Given the description of an element on the screen output the (x, y) to click on. 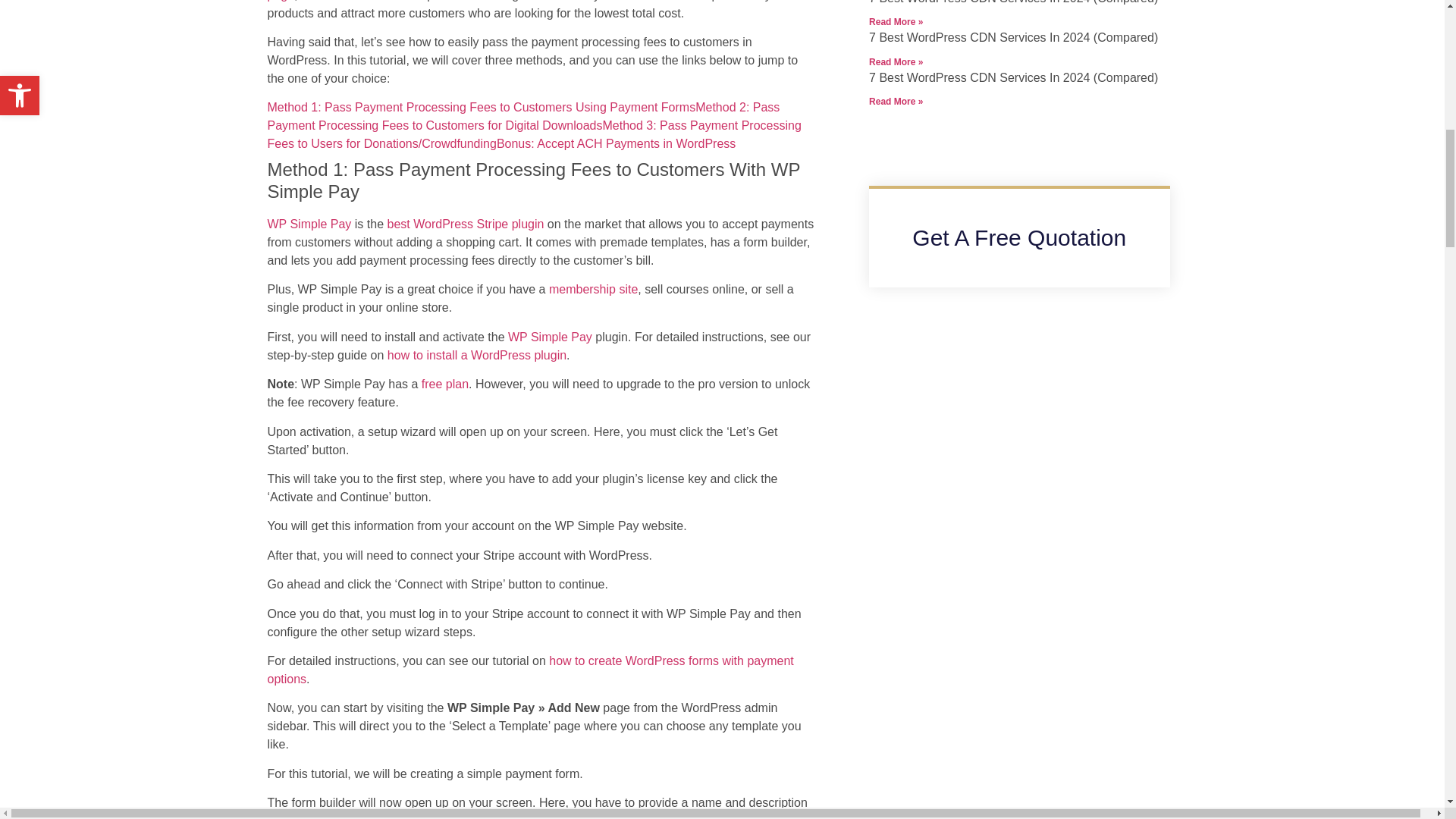
Ultimate Guide to Creating a WordPress Membership Site (592, 288)
WP Simple Pay - Free Stripe Plugin for WordPress (445, 383)
free plan (445, 383)
how to install a WordPress plugin (476, 354)
best WordPress Stripe plugin (465, 223)
Bonus: Accept ACH Payments in WordPress (615, 143)
membership site (592, 288)
WP Simple Pay - WordPress Payments Plugin (308, 223)
WP Simple Pay (308, 223)
Best Stripe Payment Plugins for WordPress (465, 223)
WP Simple Pay (550, 336)
how to create WordPress forms with payment options (529, 669)
